Given the description of an element on the screen output the (x, y) to click on. 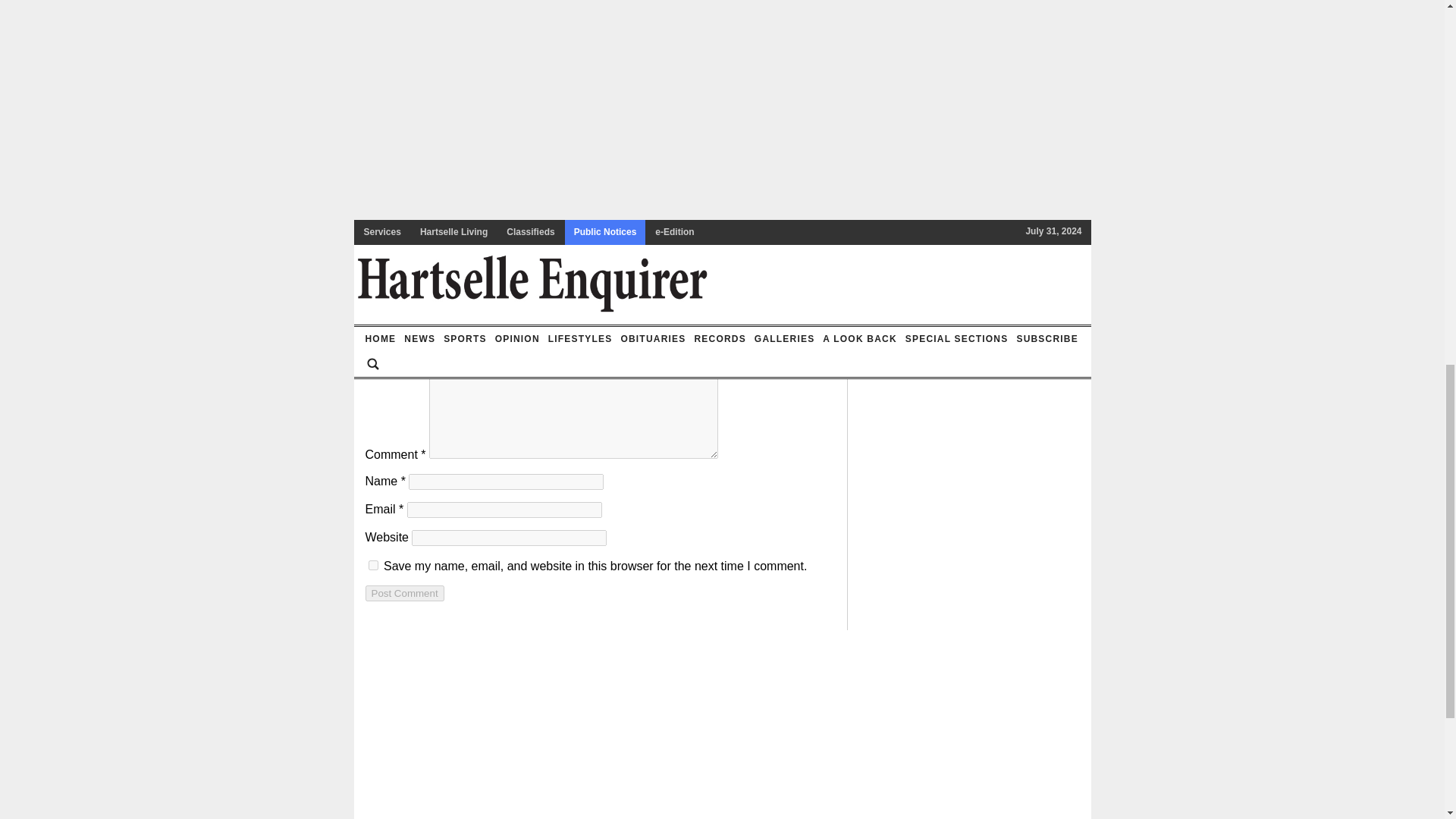
yes (373, 565)
Post Comment (404, 593)
